Given the description of an element on the screen output the (x, y) to click on. 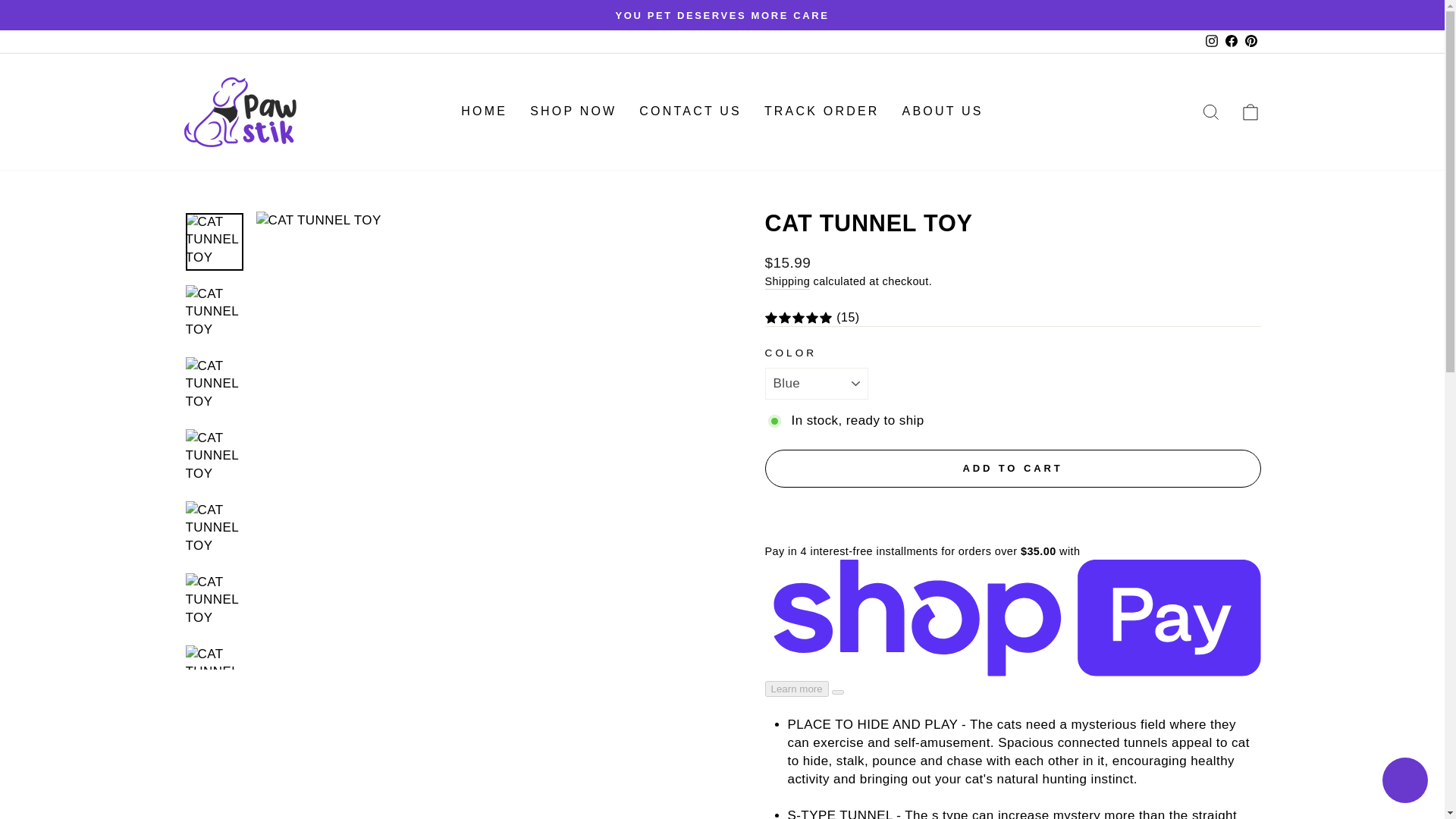
TRACK ORDER (821, 111)
CART (1249, 111)
CONTACT US (689, 111)
ABOUT US (942, 111)
HOME (483, 111)
SHOP NOW (572, 111)
SEARCH (1210, 111)
Shopify online store chat (1404, 781)
